Given the description of an element on the screen output the (x, y) to click on. 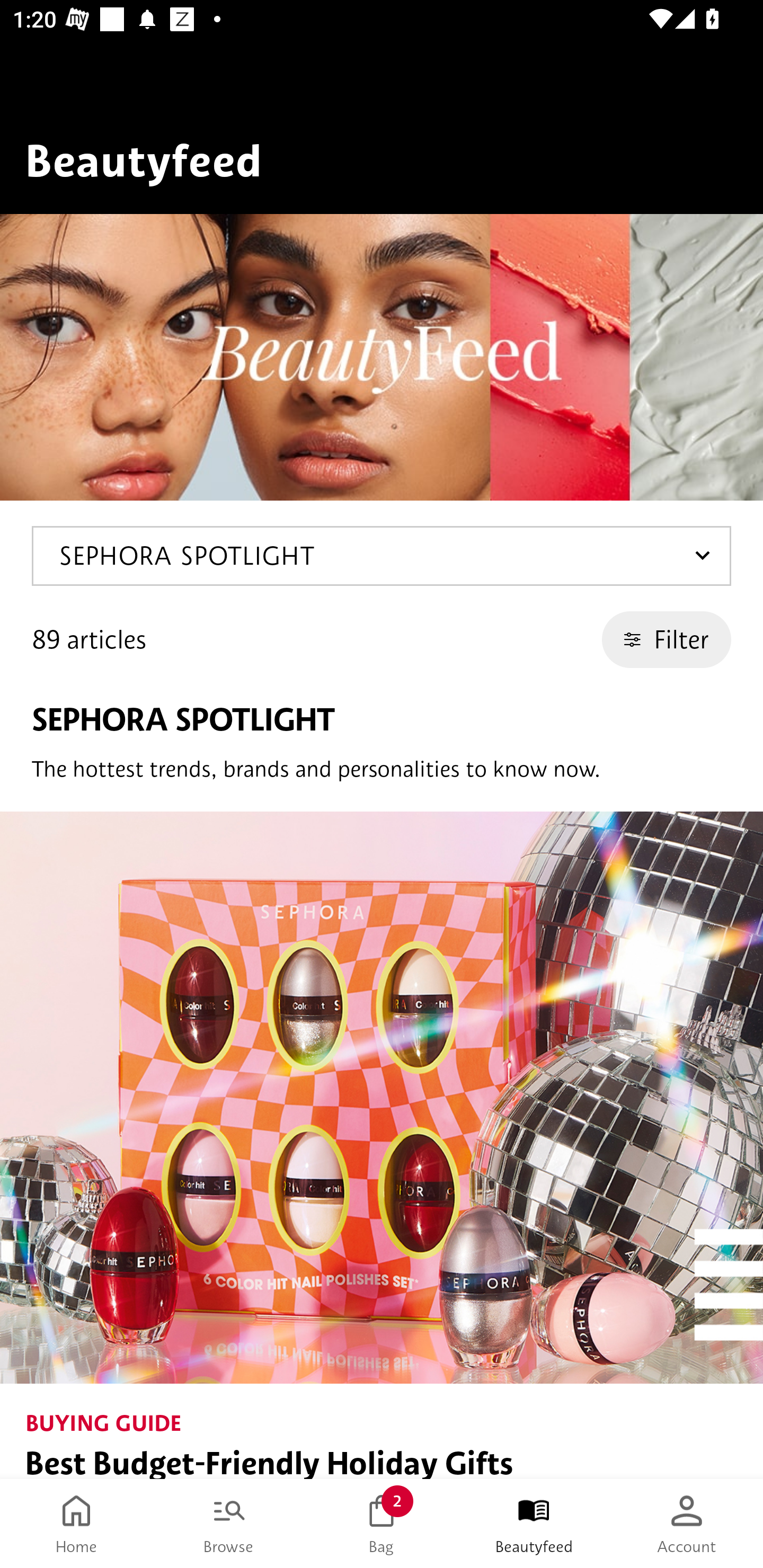
SEPHORA SPOTLIGHT (381, 555)
Filter (666, 639)
BUYING GUIDE Best Budget-Friendly Holiday Gifts  (381, 1145)
Home (76, 1523)
Browse (228, 1523)
Bag 2 Bag (381, 1523)
Account (686, 1523)
